Given the description of an element on the screen output the (x, y) to click on. 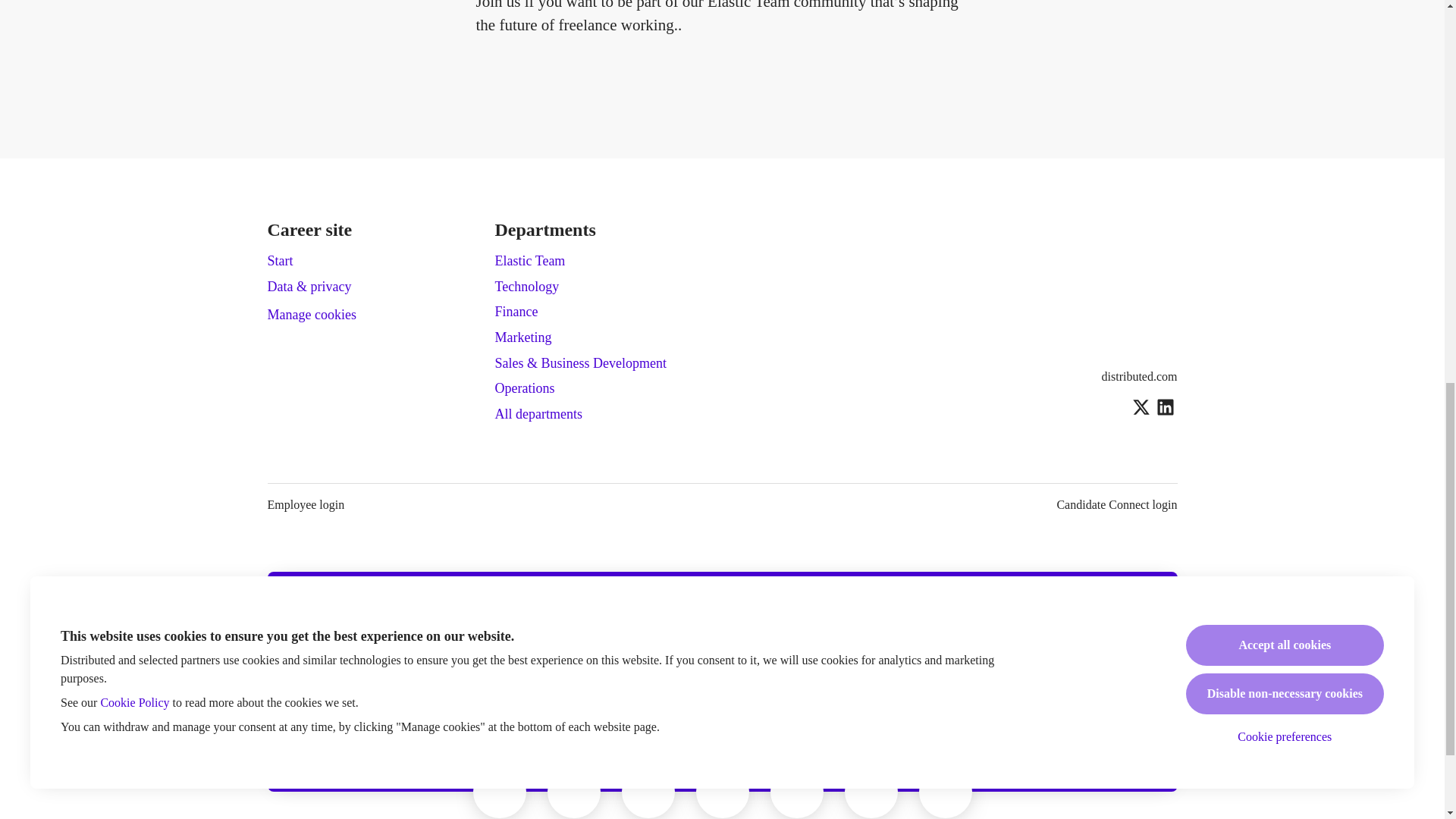
Nina Englishby (498, 791)
distributed.com (1139, 376)
Marketing (523, 337)
Employee login (304, 505)
Kim van Oudshoorn (944, 791)
Candidate Connect login (1116, 505)
Finance (516, 311)
Operations (524, 387)
Manage cookies (310, 314)
All departments (537, 414)
Adam Morehead (870, 791)
Klaudia Demjen (572, 791)
x-twitter (1140, 408)
Elastic Team (529, 260)
Log in (887, 713)
